Given the description of an element on the screen output the (x, y) to click on. 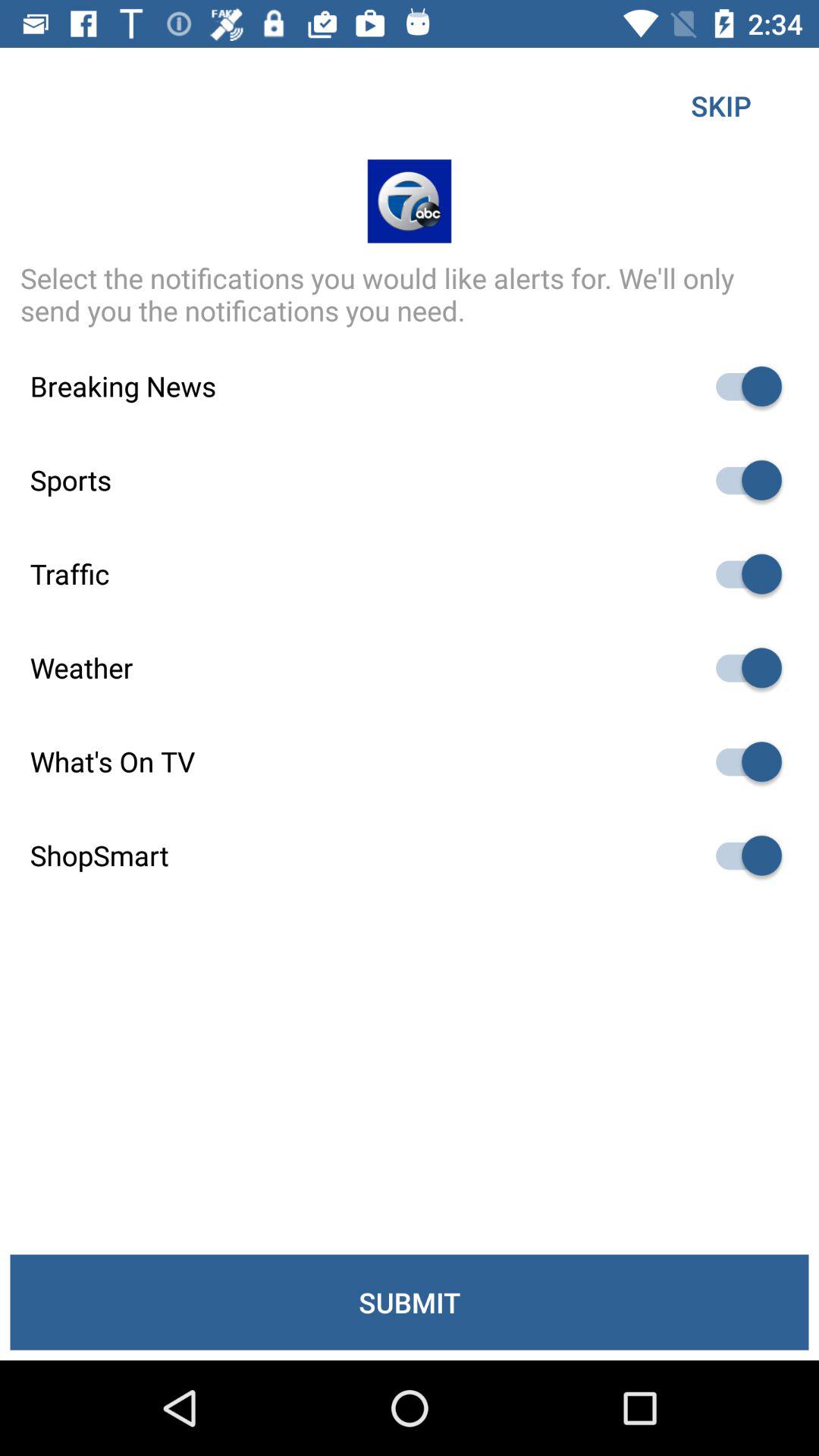
open item above the select the notifications icon (720, 105)
